Given the description of an element on the screen output the (x, y) to click on. 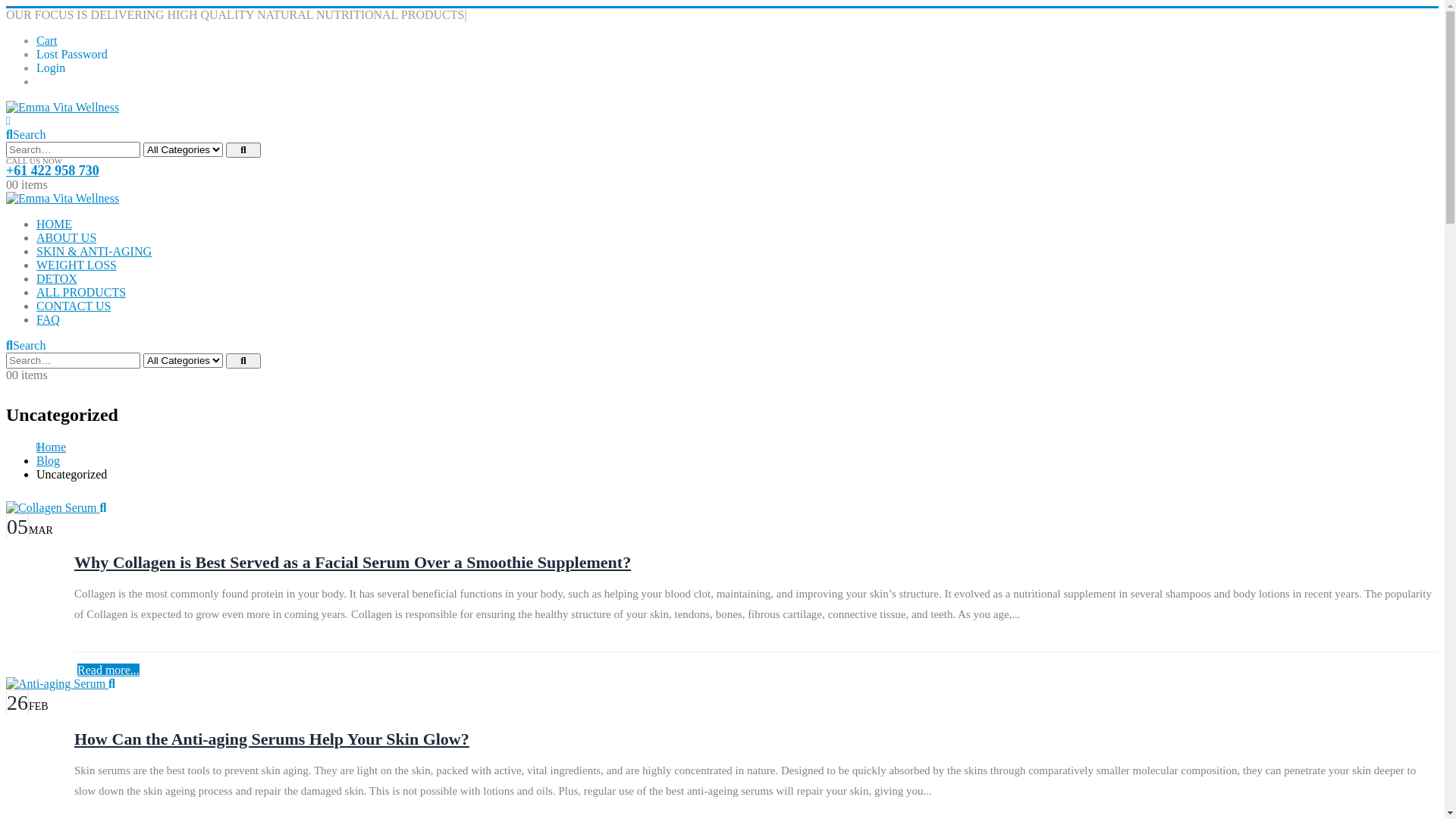
+61 422 958 730 Element type: text (52, 170)
CONTACT US Element type: text (73, 305)
Emma Vita Wellness - Emma Vita Pvt. Ltd. Element type: hover (62, 106)
Lost Password Element type: text (71, 53)
Search Element type: text (25, 134)
HOME Element type: text (54, 223)
How Can the Anti-aging Serums Help Your Skin Glow? Element type: text (271, 738)
DETOX Element type: text (56, 278)
Home Element type: text (50, 446)
Blog Element type: text (47, 460)
ALL PRODUCTS Element type: text (80, 291)
Cart Element type: text (46, 40)
SKIN & ANTI-AGING Element type: text (93, 250)
FAQ Element type: text (47, 319)
WEIGHT LOSS Element type: text (76, 264)
Search Element type: text (25, 344)
Search Element type: hover (242, 149)
Login Element type: text (50, 67)
Read more... Element type: text (108, 669)
Search Element type: hover (242, 360)
ABOUT US Element type: text (66, 237)
Emma Vita Wellness - Emma Vita Pvt. Ltd. Element type: hover (62, 197)
